Given the description of an element on the screen output the (x, y) to click on. 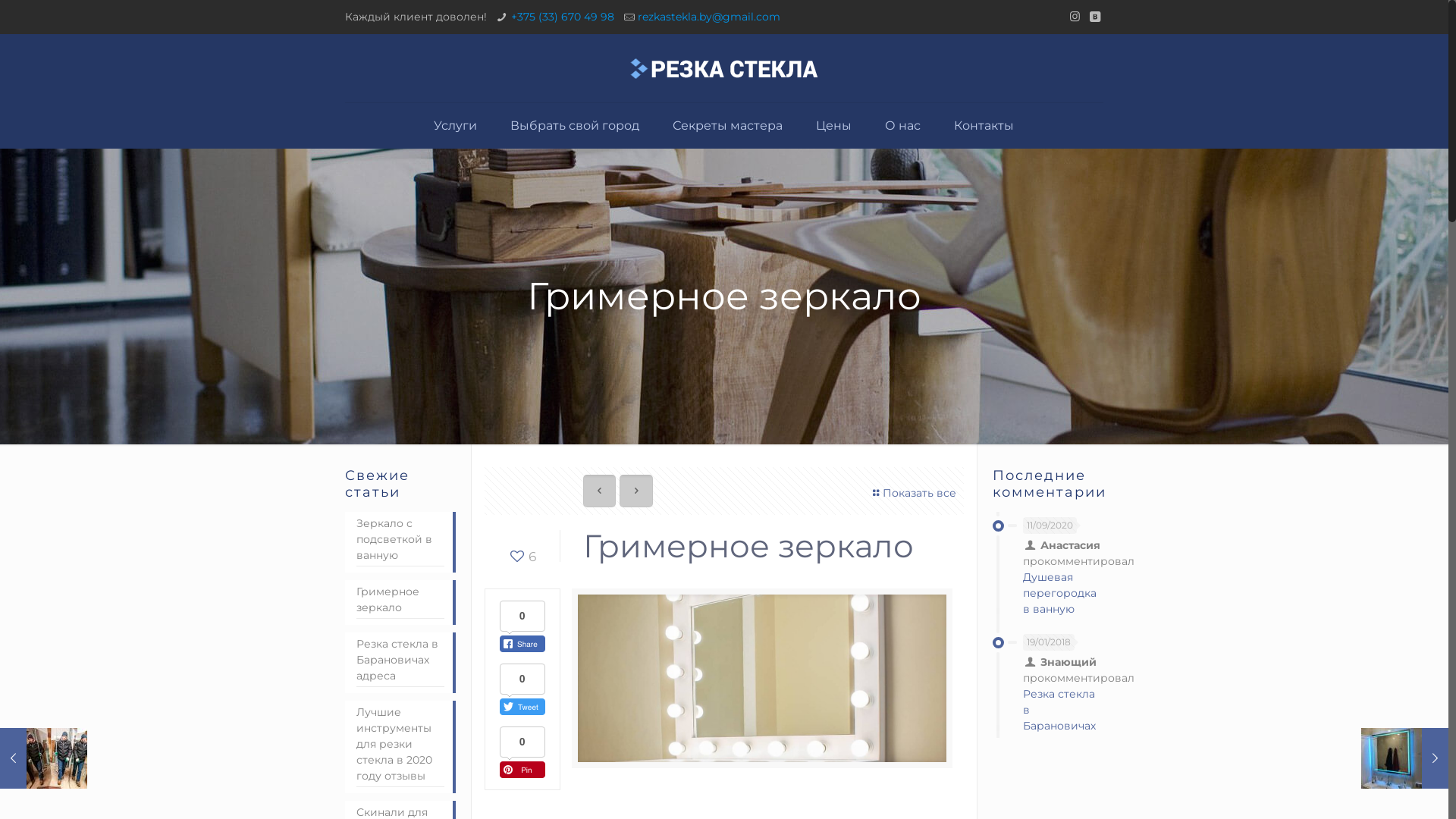
6 Element type: text (521, 556)
Instagram Element type: hover (1074, 16)
rezkastekla.by@gmail.com Element type: text (708, 16)
+375 (33) 670 49 98 Element type: text (562, 16)
VKontakte Element type: hover (1095, 16)
